Given the description of an element on the screen output the (x, y) to click on. 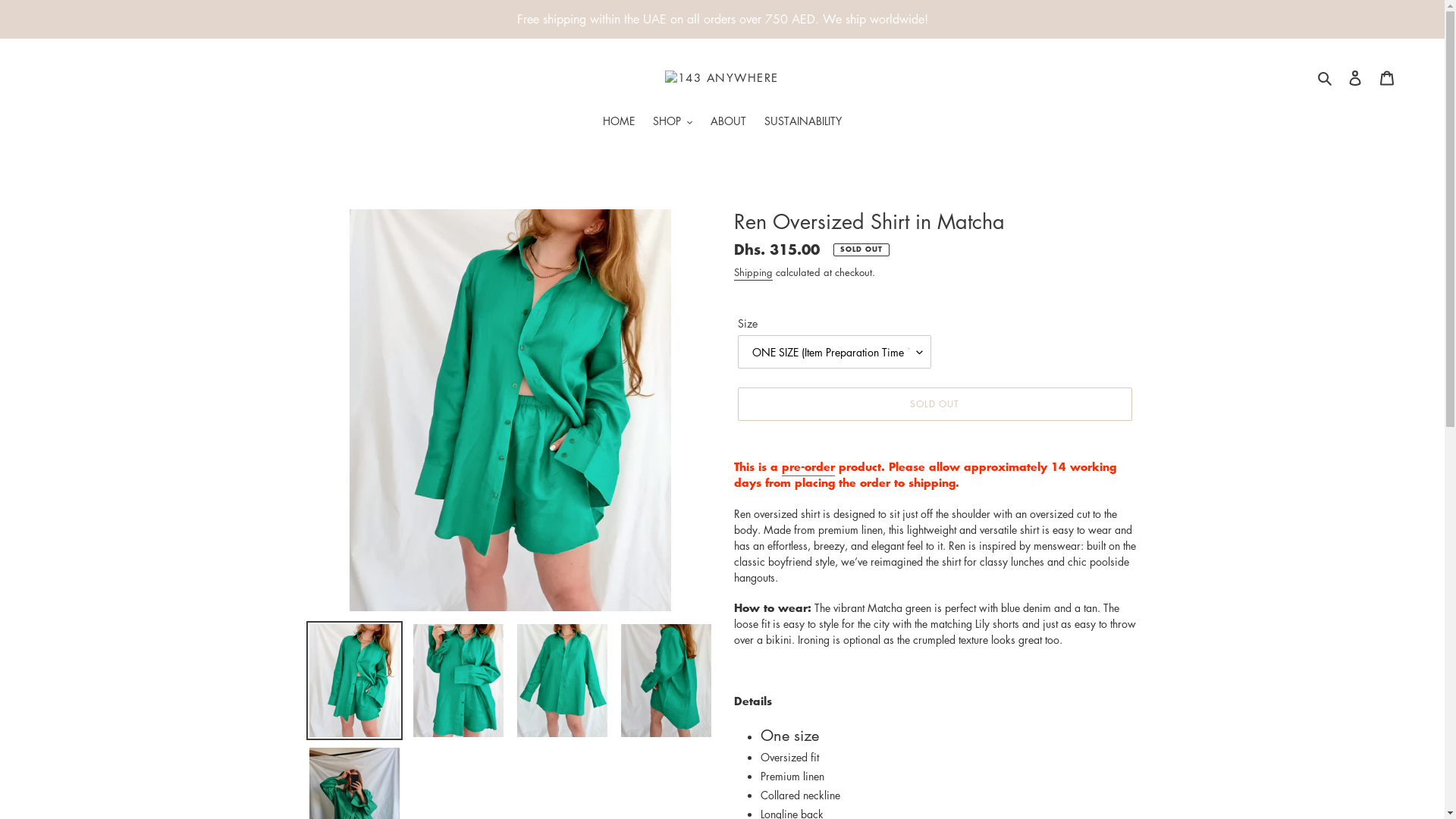
SUSTAINABILITY Element type: text (802, 121)
Search Element type: text (1325, 77)
SHOP Element type: text (672, 121)
Cart Element type: text (1386, 77)
Log in Element type: text (1355, 77)
pre-order Element type: text (807, 467)
HOME Element type: text (618, 121)
ABOUT Element type: text (727, 121)
SOLD OUT Element type: text (934, 403)
Shipping Element type: text (753, 272)
